Given the description of an element on the screen output the (x, y) to click on. 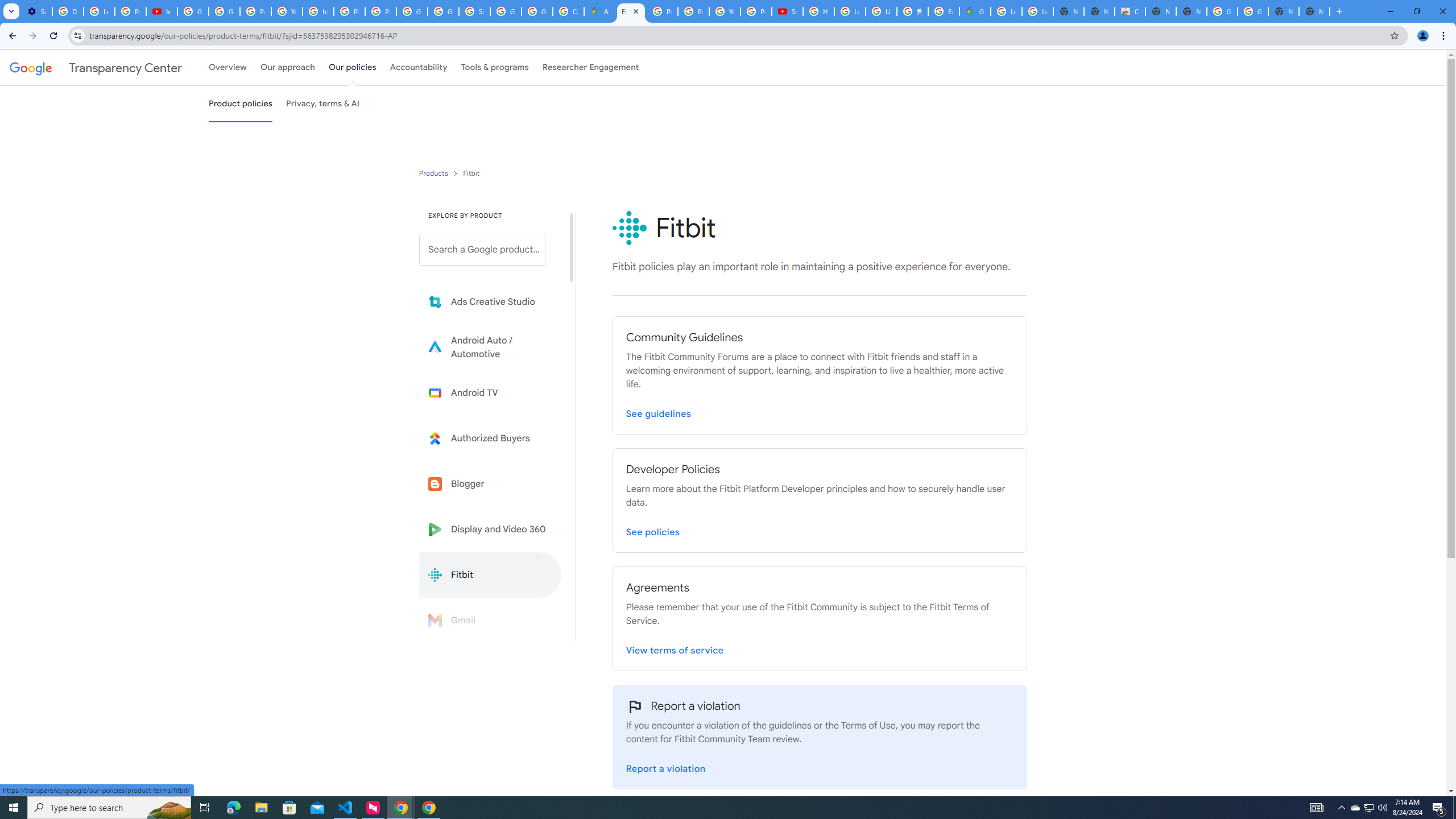
Search a Google product from below list. (481, 249)
Google Images (1252, 11)
View Fitbit Developer Policies page (652, 529)
Researcher Engagement (590, 67)
Read Fitbit Terms of Service page (674, 647)
